Given the description of an element on the screen output the (x, y) to click on. 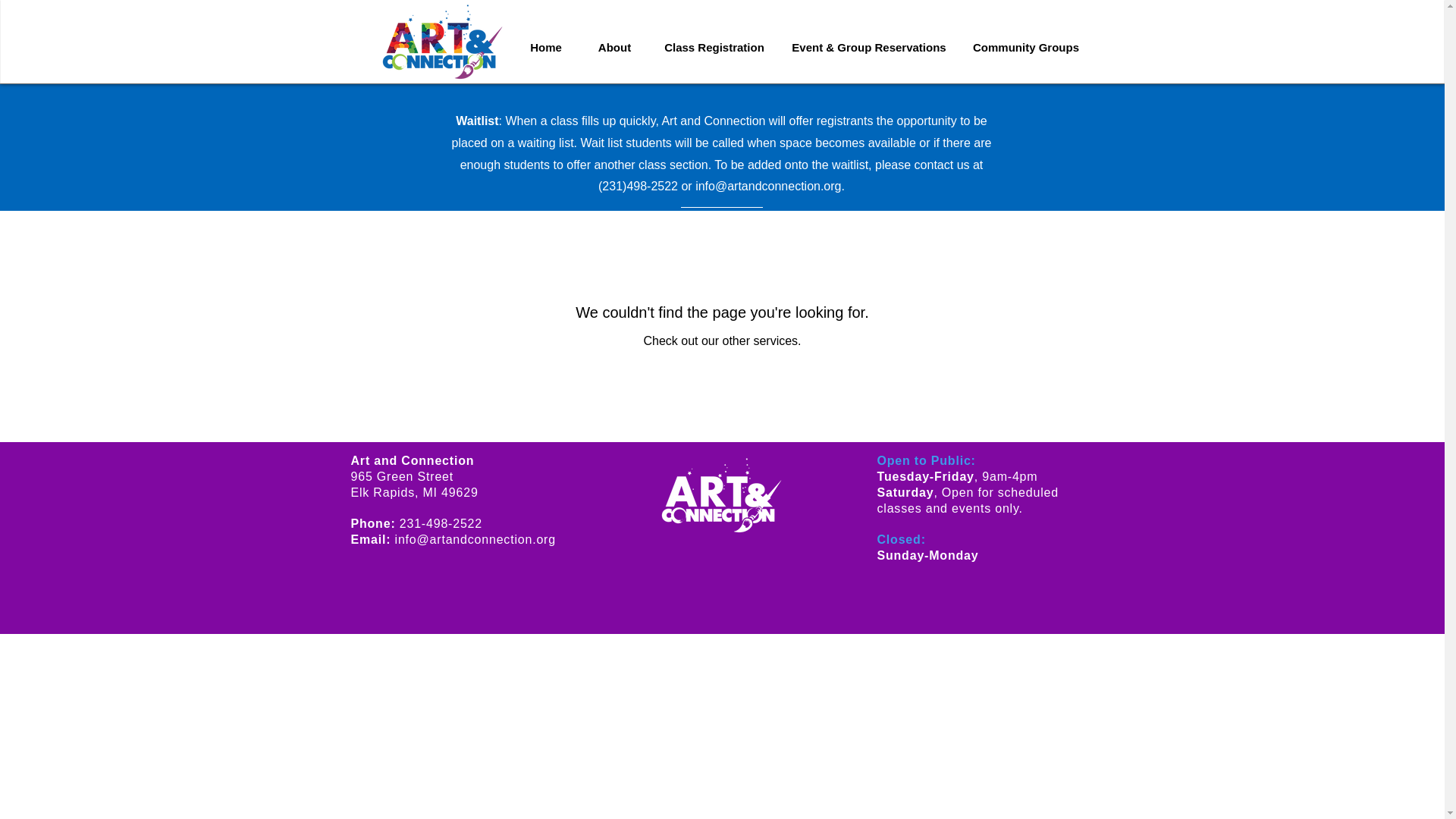
About (614, 47)
Home (545, 47)
Community Groups (1024, 47)
Class Registration (714, 47)
Email: (372, 539)
